Given the description of an element on the screen output the (x, y) to click on. 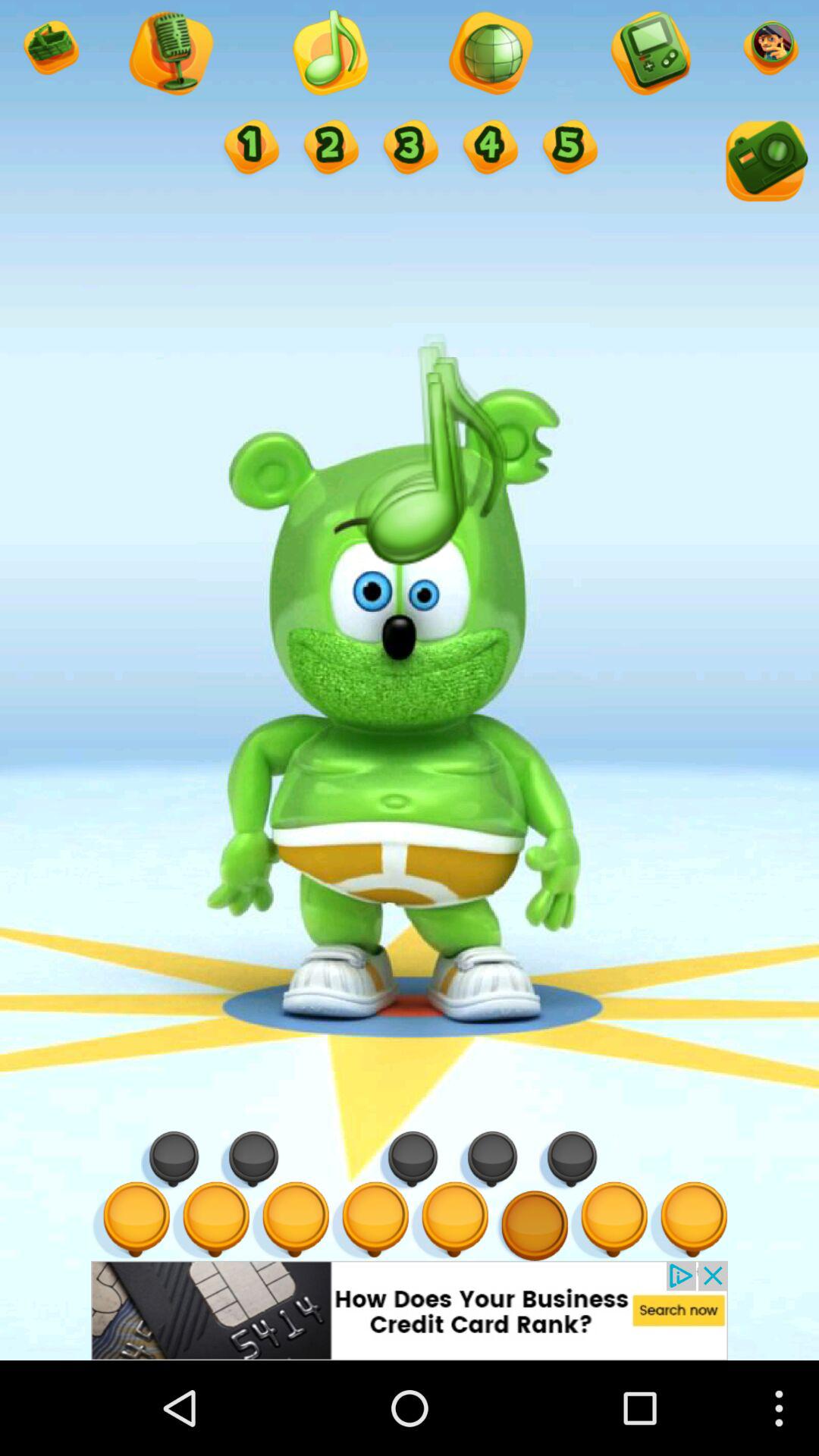
gummy bear talk (249, 149)
